Given the description of an element on the screen output the (x, y) to click on. 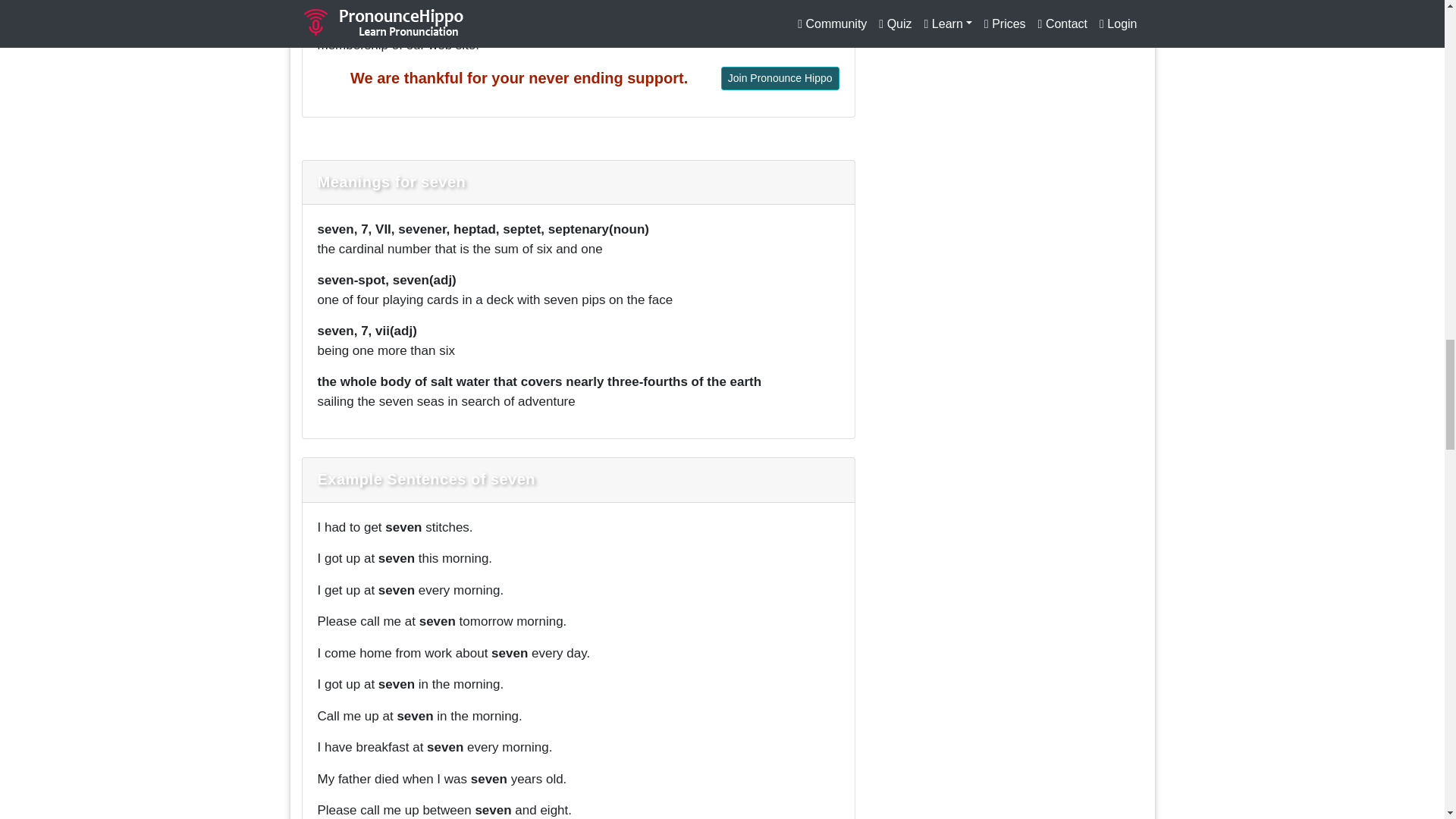
Join Pronounce Hippo (780, 78)
